Given the description of an element on the screen output the (x, y) to click on. 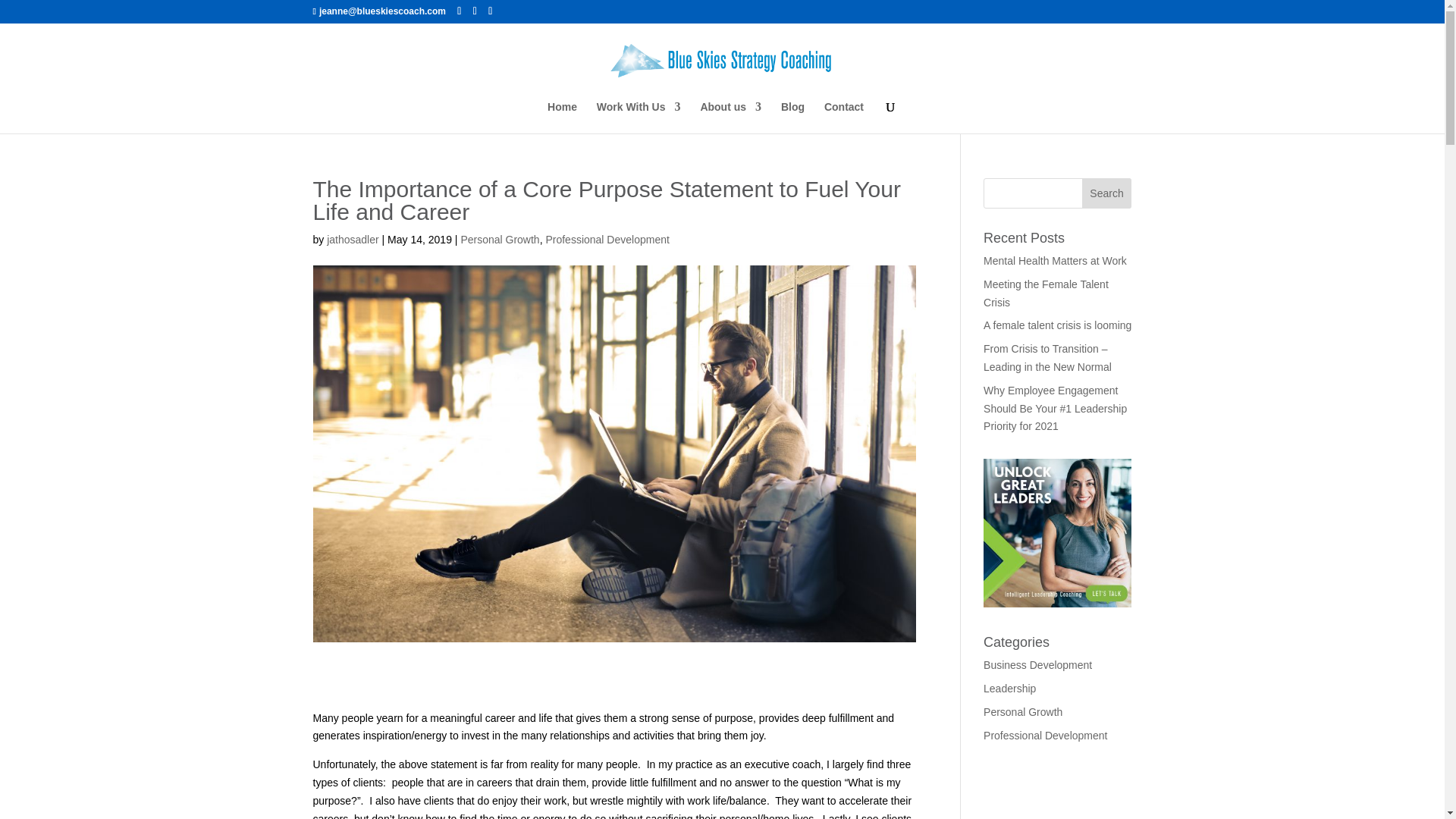
Professional Development (606, 239)
Home (561, 117)
Search (1106, 193)
Personal Growth (499, 239)
About us (730, 117)
Work With Us (638, 117)
jathosadler (352, 239)
Posts by jathosadler (352, 239)
Contact (843, 117)
